Given the description of an element on the screen output the (x, y) to click on. 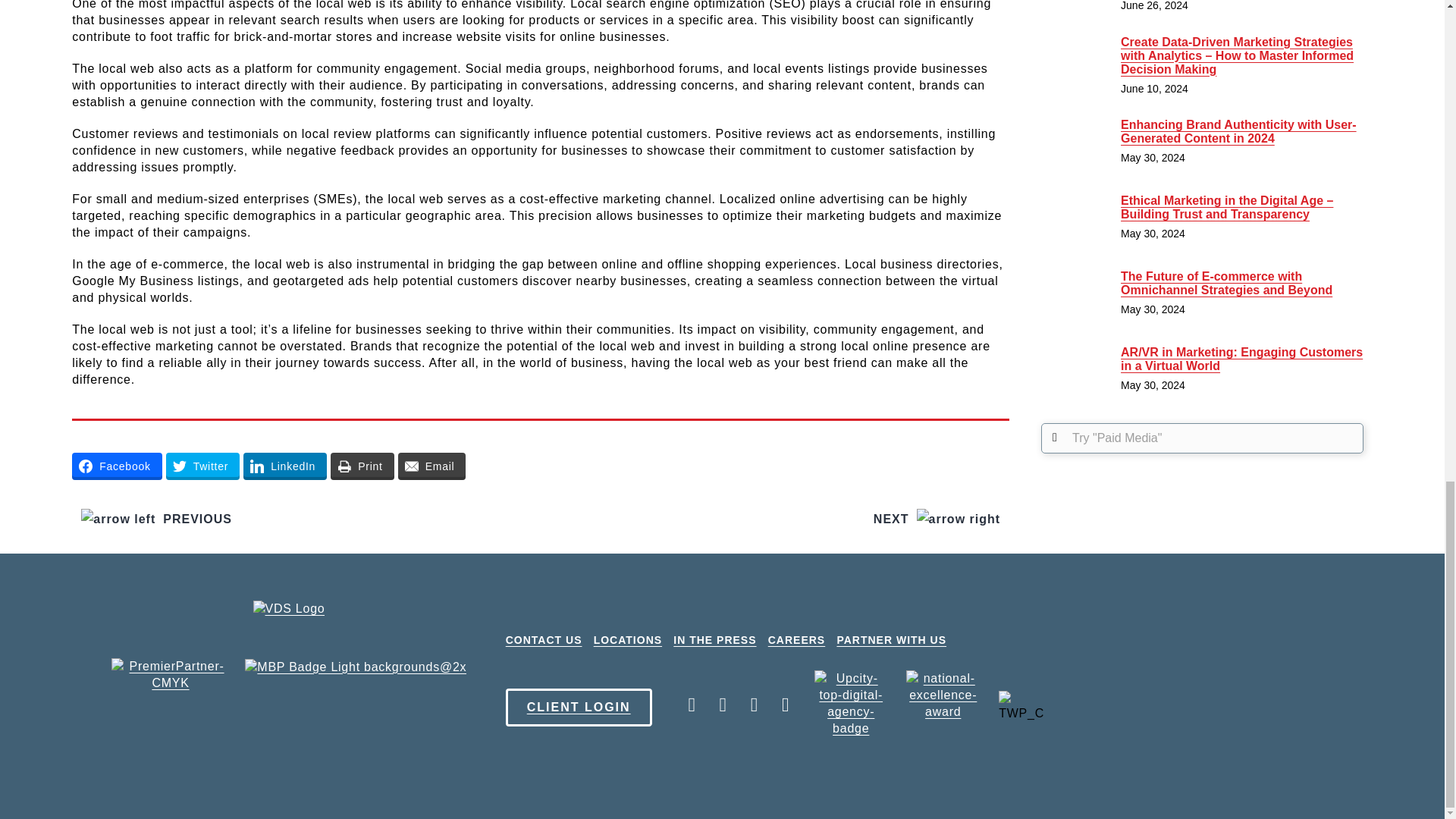
Share on LinkedIn (284, 465)
Share on Print (362, 465)
Careers (796, 639)
Share on Twitter (202, 465)
Share on Email (431, 465)
Share on Facebook (116, 465)
